Given the description of an element on the screen output the (x, y) to click on. 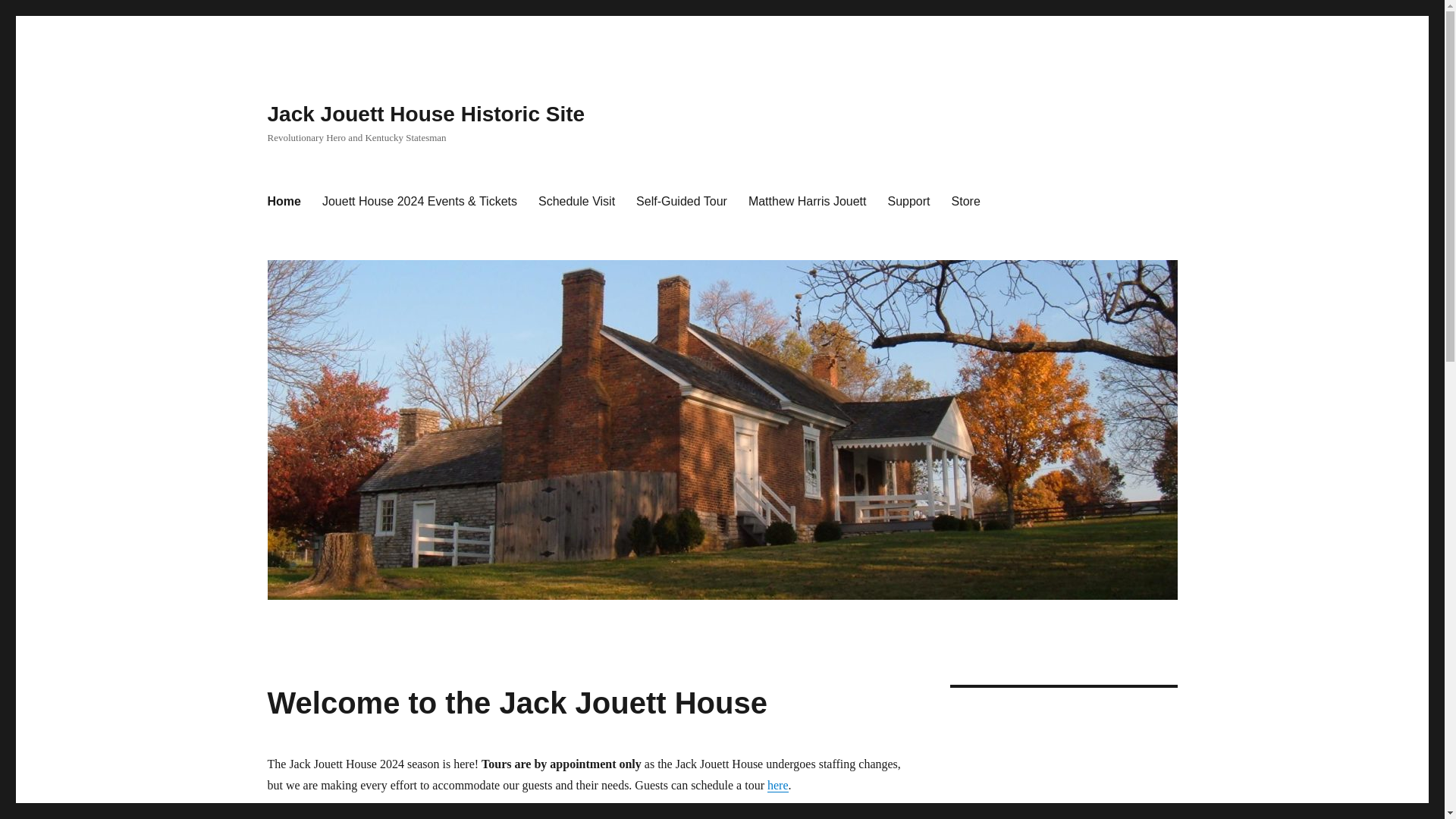
Self-Guided Tour (682, 201)
Support (908, 201)
Schedule Visit (576, 201)
Jack Jouett House Historic Site (425, 114)
here (778, 784)
Store (965, 201)
Home (283, 201)
Matthew Harris Jouett (807, 201)
